Given the description of an element on the screen output the (x, y) to click on. 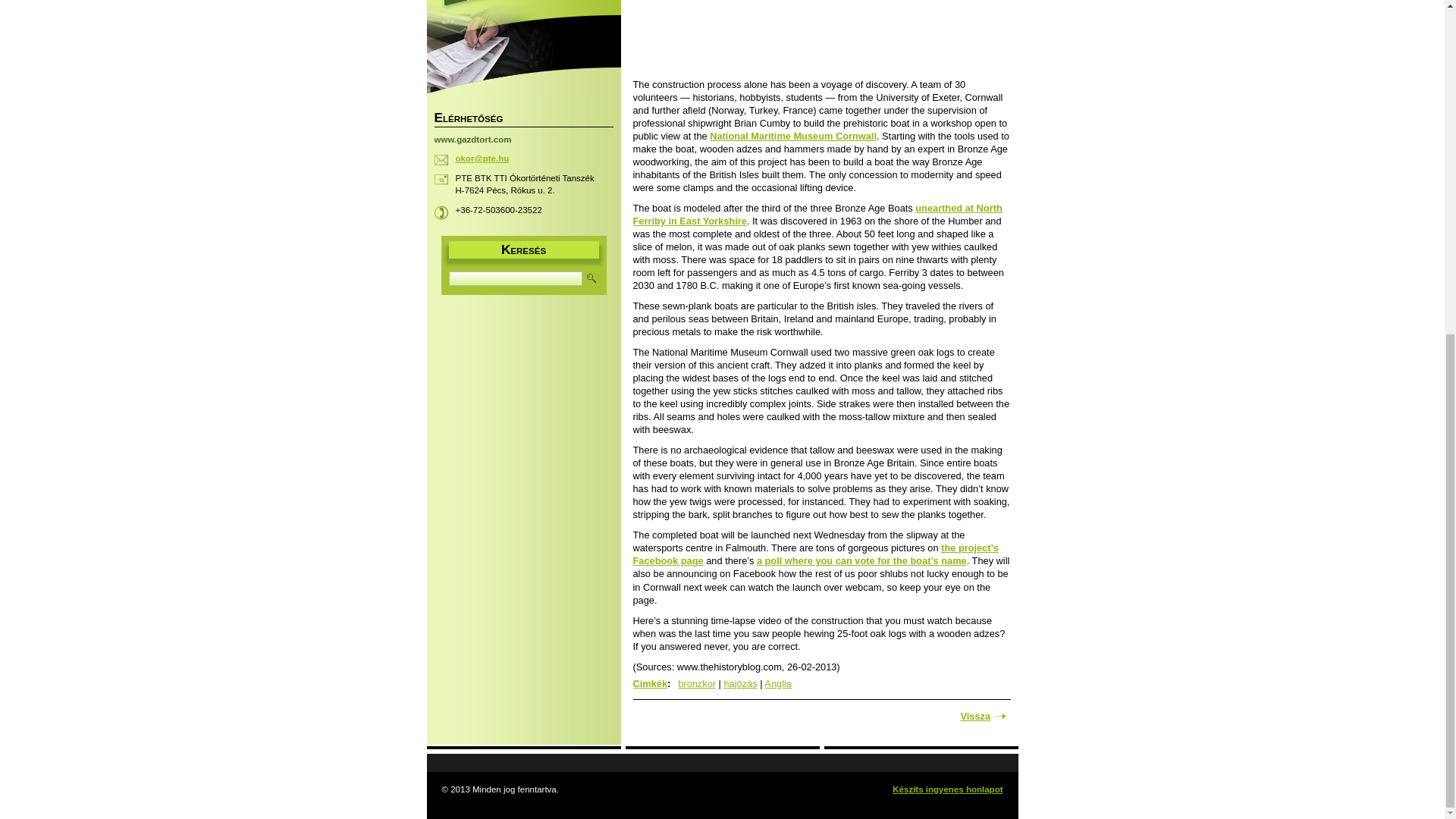
Vissza (982, 715)
National Maritime Museum Cornwall (793, 135)
Anglia (778, 683)
bronzkor (697, 683)
unearthed at North Ferriby in East Yorkshire (816, 214)
